Given the description of an element on the screen output the (x, y) to click on. 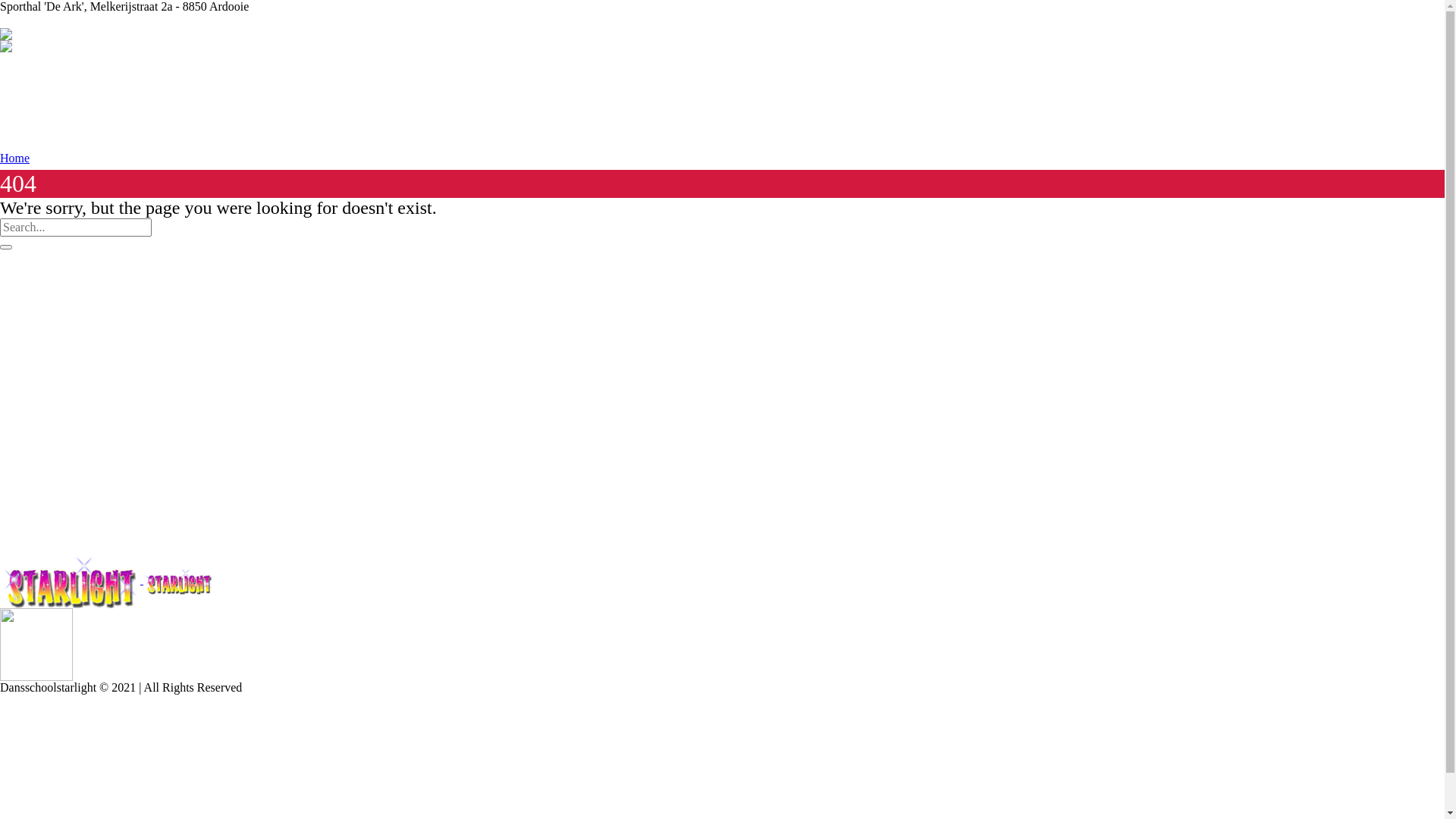
Starlight Element type: hover (70, 49)
Starlight Element type: hover (106, 579)
Home Element type: text (14, 157)
